Given the description of an element on the screen output the (x, y) to click on. 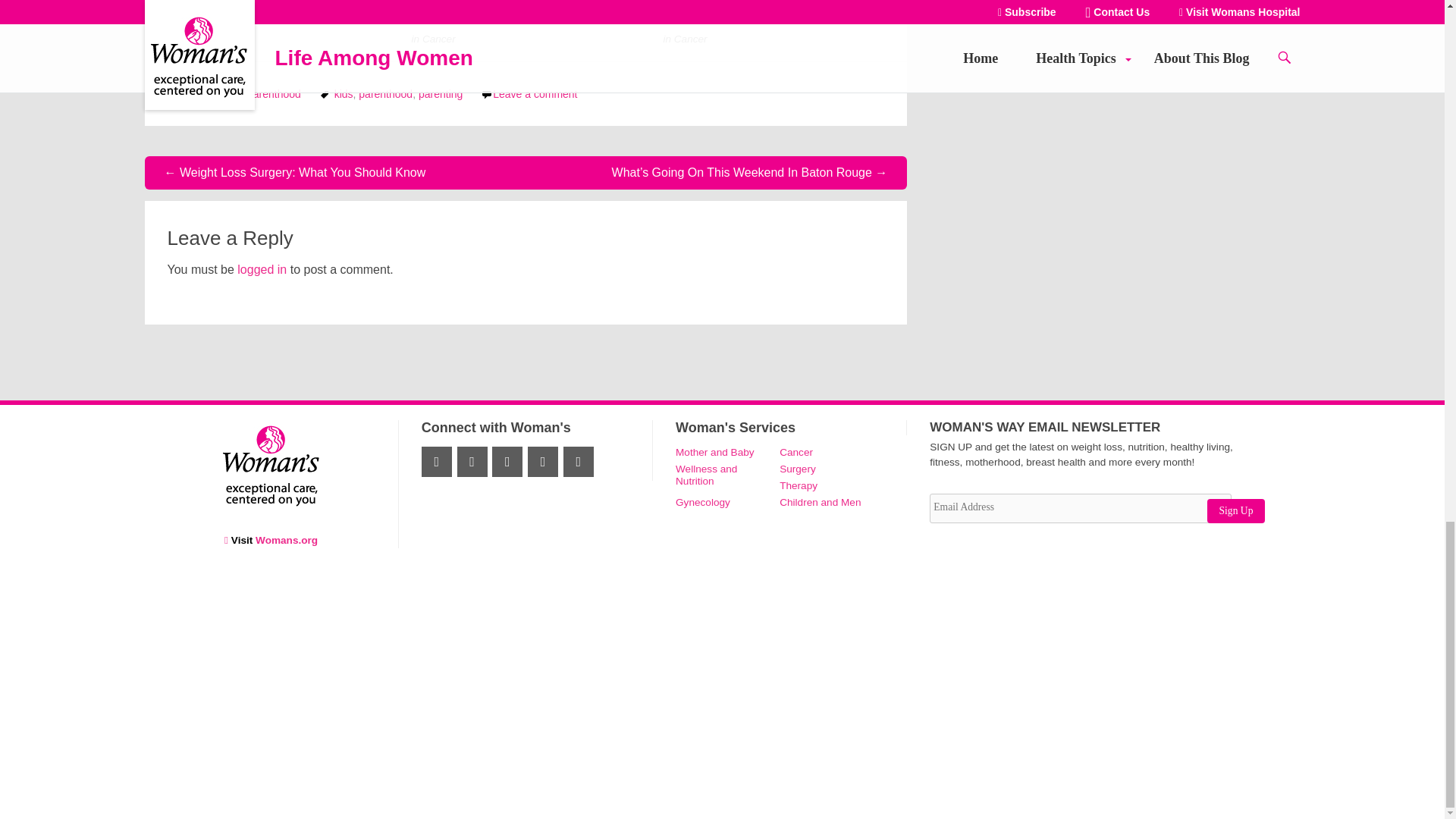
parenthood (385, 93)
parenting (441, 93)
logged in (261, 269)
Four Key Statistics about Colorectal Cancer (266, 18)
Sign Up (1236, 510)
Cancer (690, 39)
Cancer (194, 39)
kids (343, 93)
Leave a comment (534, 93)
Geaux Teal Ovarian Cancer Walk is April 1 (508, 18)
Cancer (438, 39)
